Given the description of an element on the screen output the (x, y) to click on. 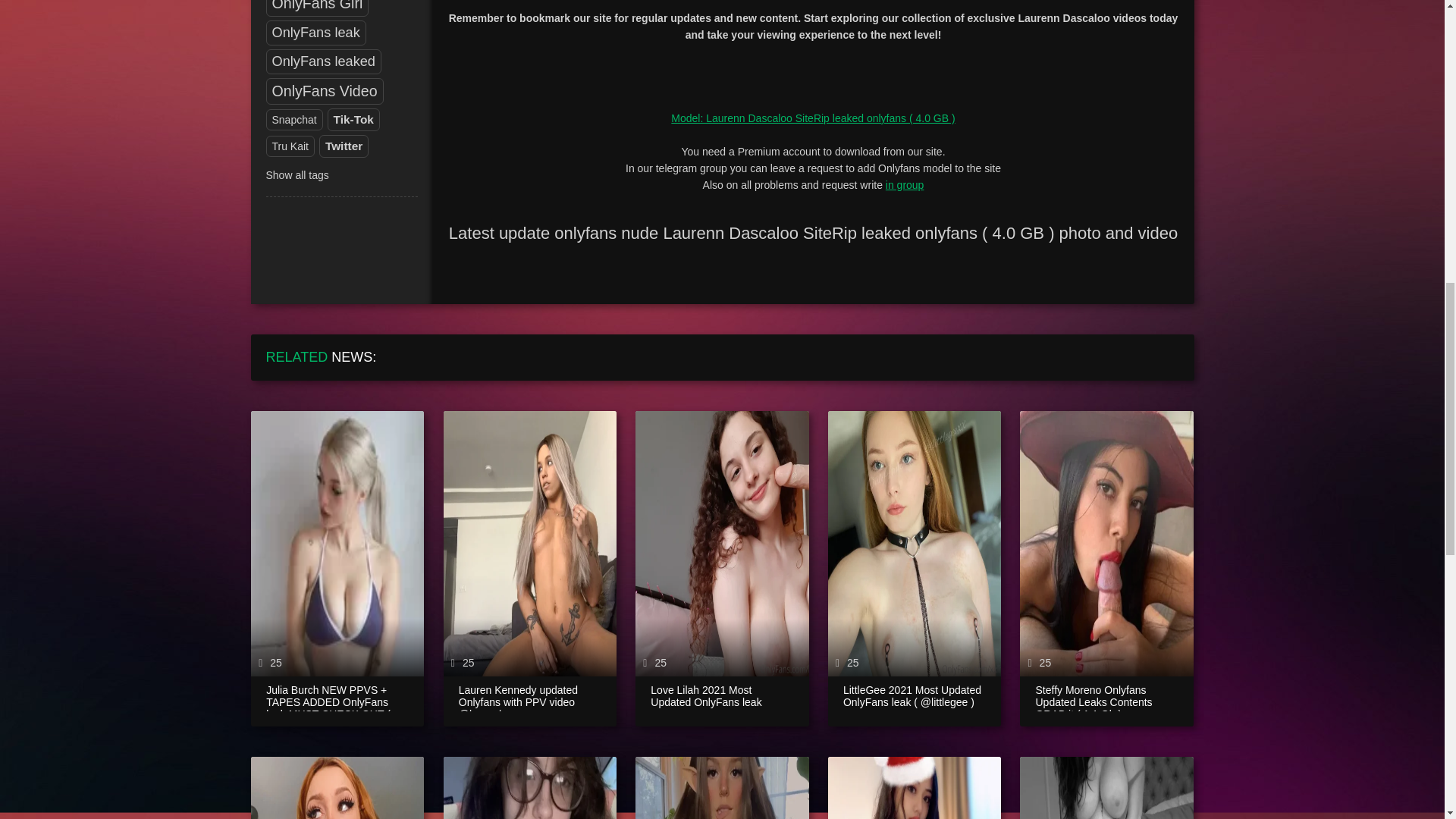
Publication found: 23879 (315, 33)
Publication found: 23934 (317, 7)
in group (904, 184)
Publication found: 20973 (323, 61)
OnlyFans Girl (317, 7)
Publication found: 23934 (324, 91)
OnlyFans leak (315, 33)
